Given the description of an element on the screen output the (x, y) to click on. 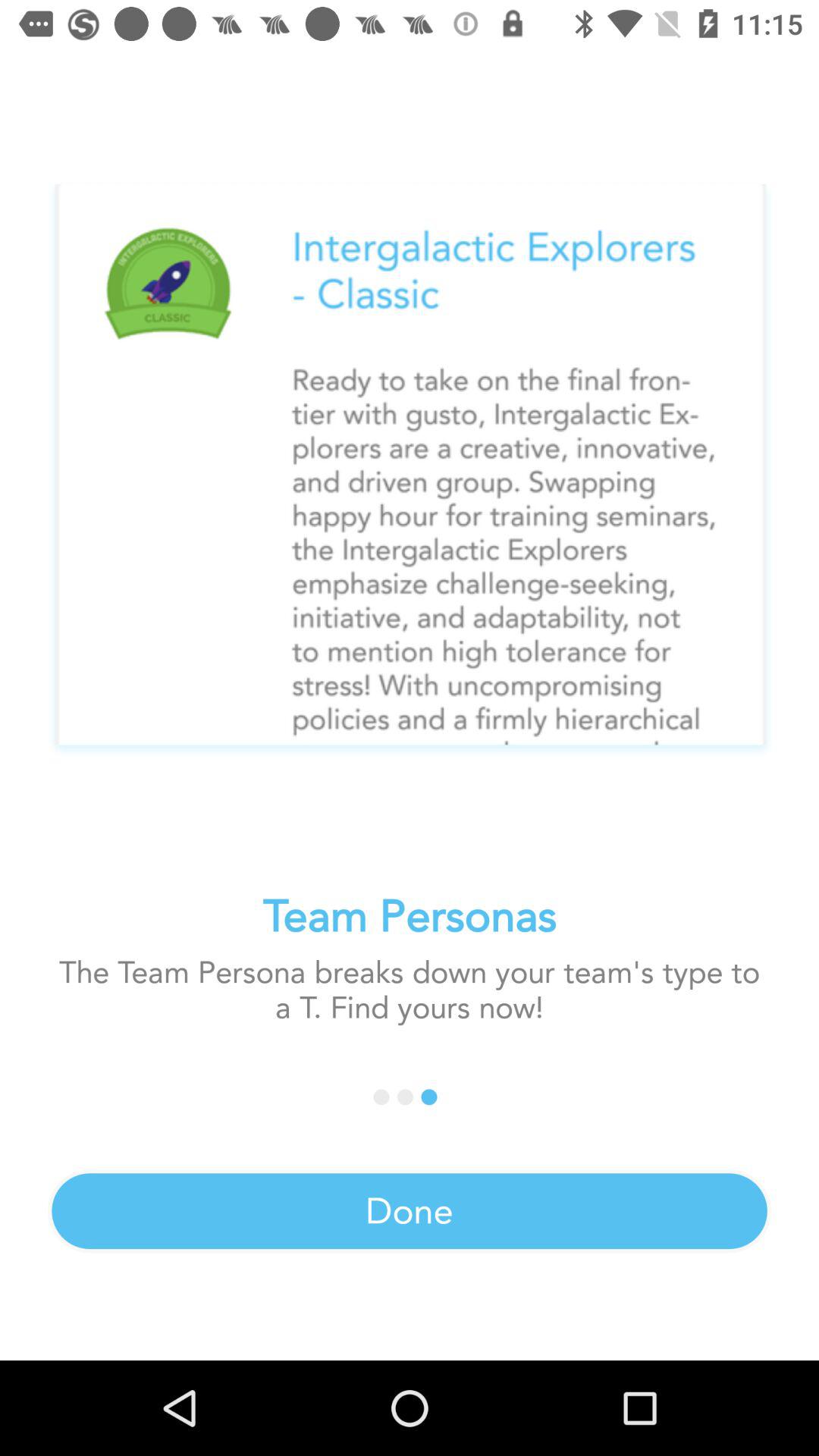
turn off the done icon (409, 1210)
